Given the description of an element on the screen output the (x, y) to click on. 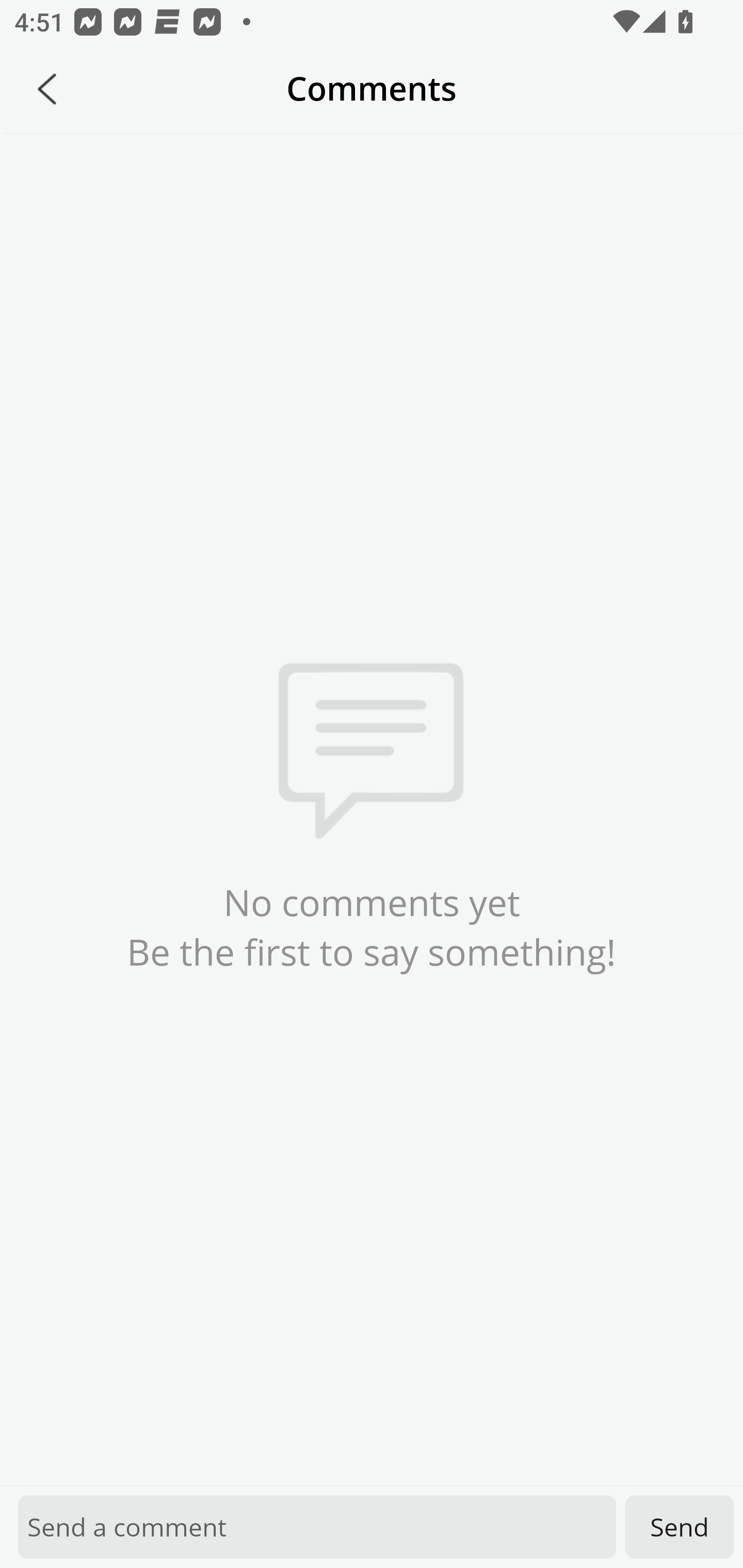
Back (46, 88)
Send a comment (316, 1526)
Send (679, 1526)
